Given the description of an element on the screen output the (x, y) to click on. 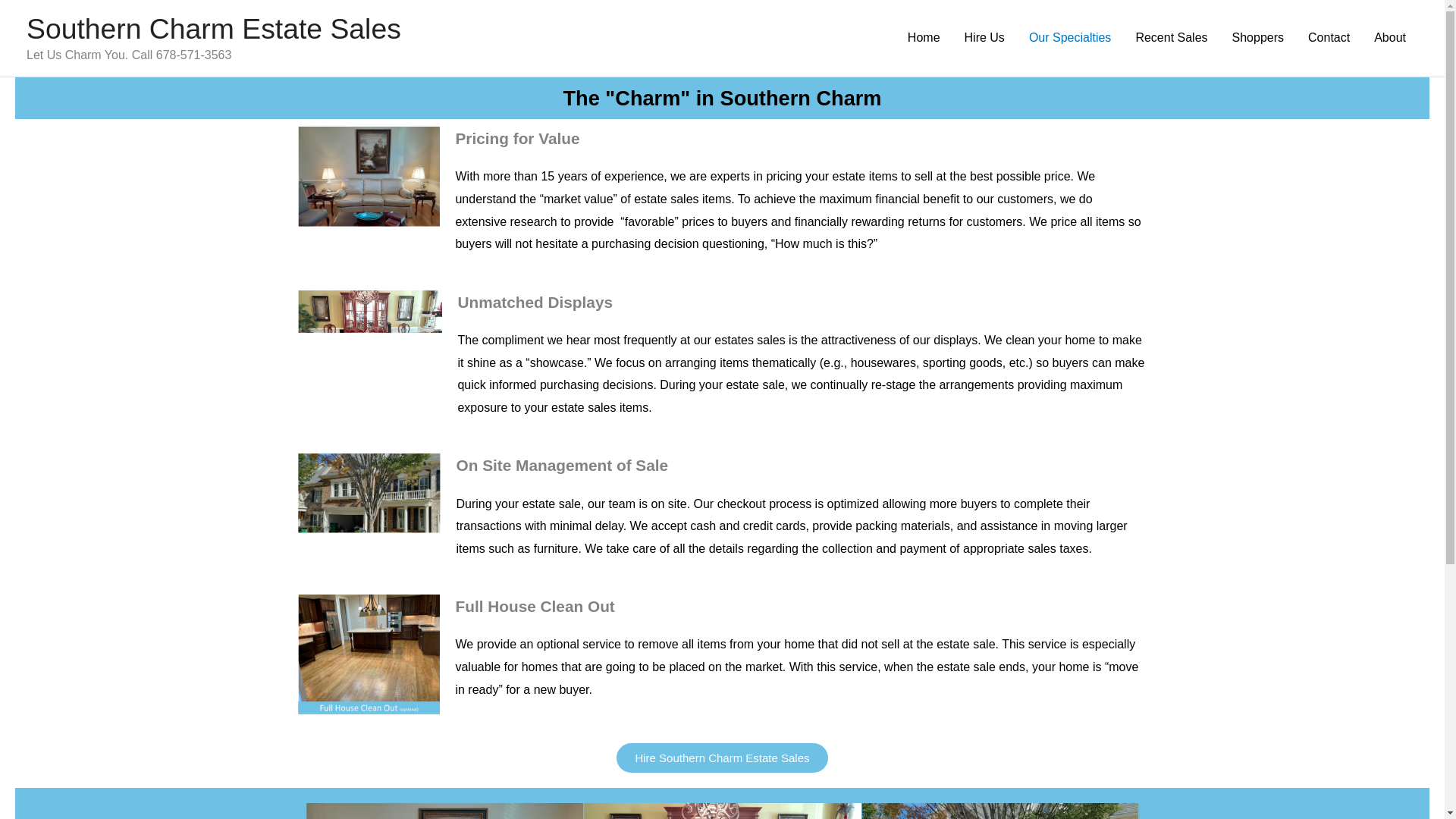
Recent Sales (1171, 38)
Shoppers (1258, 38)
Hire Southern Charm Estate Sales (721, 757)
Our Specialties (1070, 38)
Southern Charm Estate Sales (213, 29)
